Given the description of an element on the screen output the (x, y) to click on. 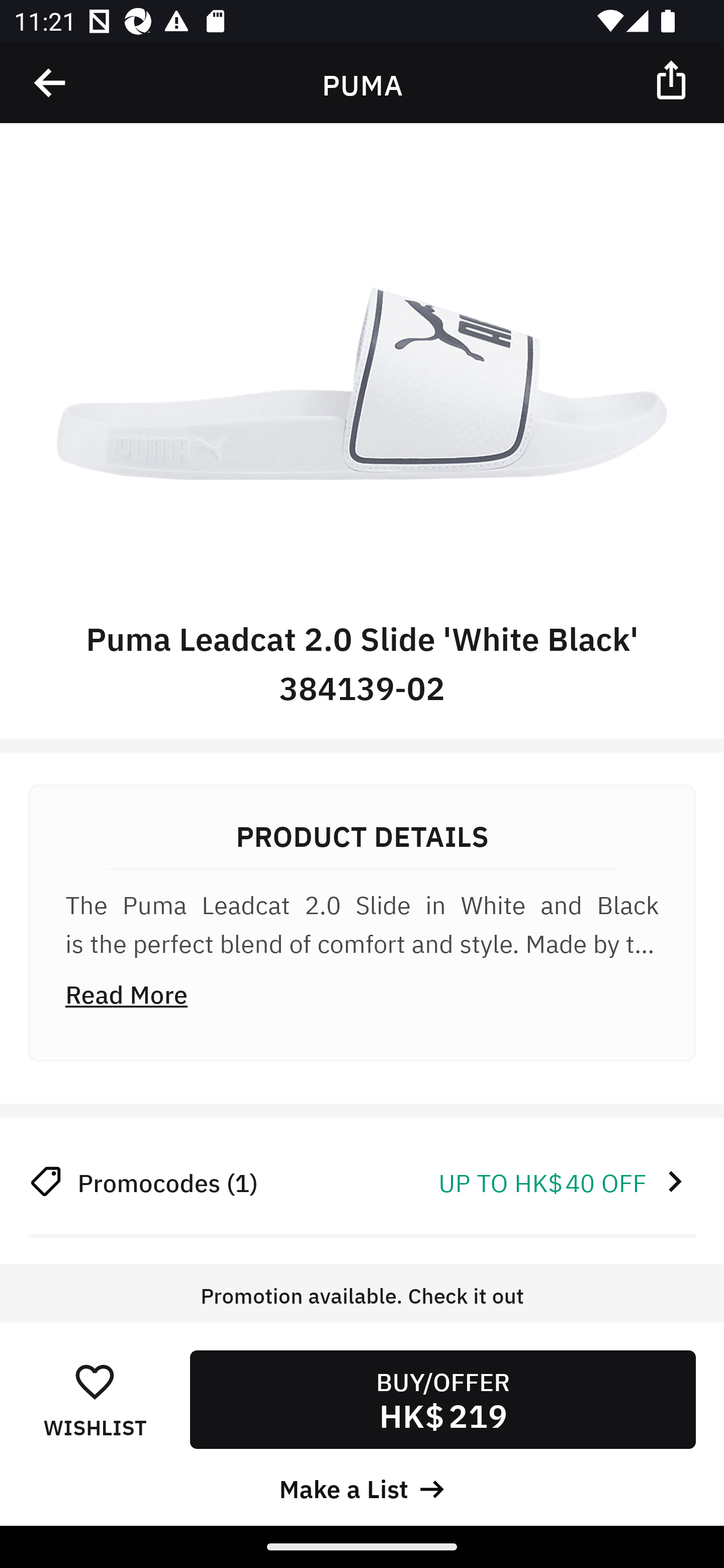
 (50, 83)
 (672, 79)
Promocodes (1) UP TO HK$ 40 OFF  (361, 1181)
BUY/OFFER HK$ 219 (442, 1399)
󰋕 (94, 1380)
Make a List (361, 1486)
